Given the description of an element on the screen output the (x, y) to click on. 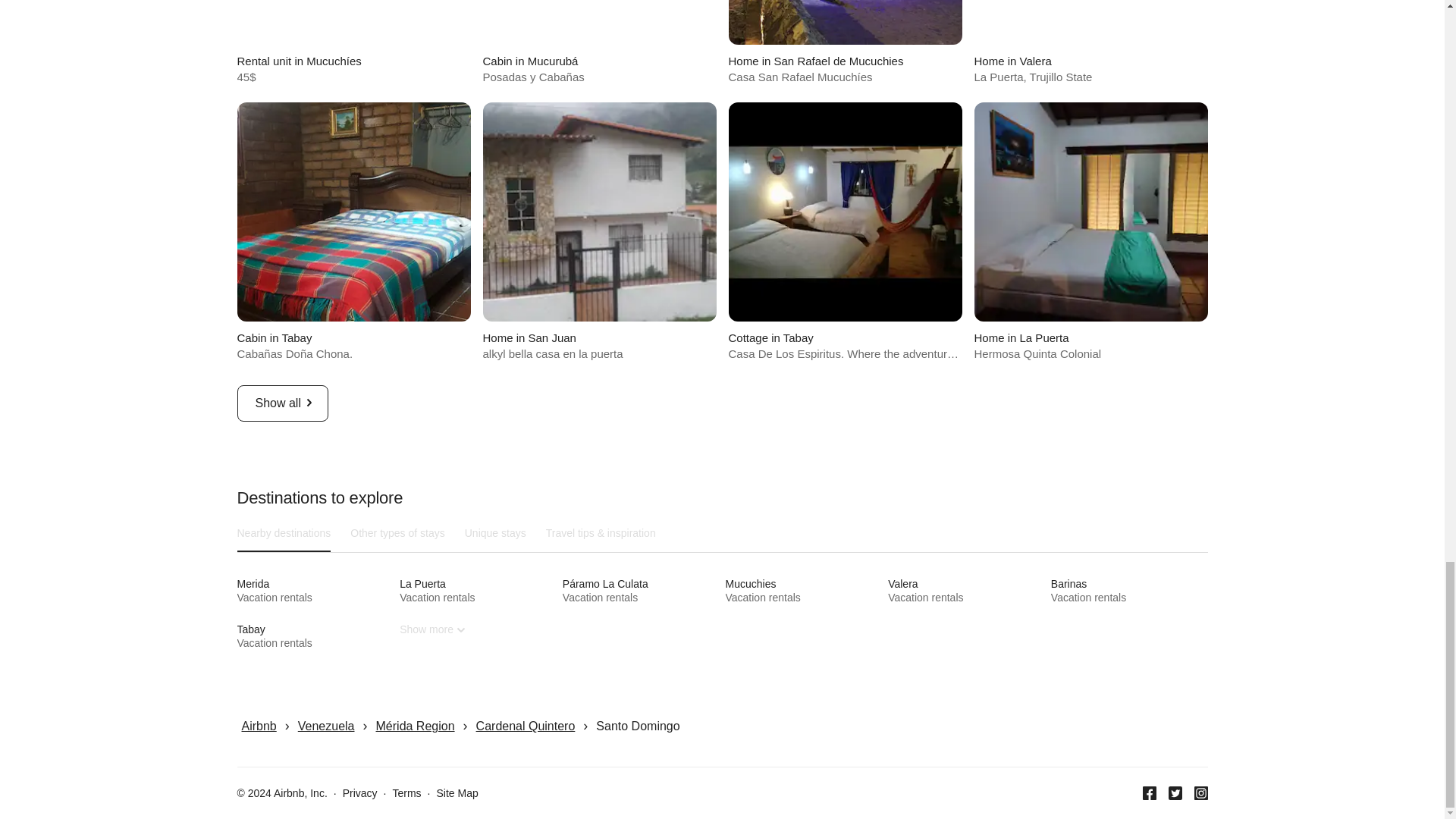
Other types of stays (397, 532)
Nearby destinations (598, 231)
Show all (282, 532)
